Given the description of an element on the screen output the (x, y) to click on. 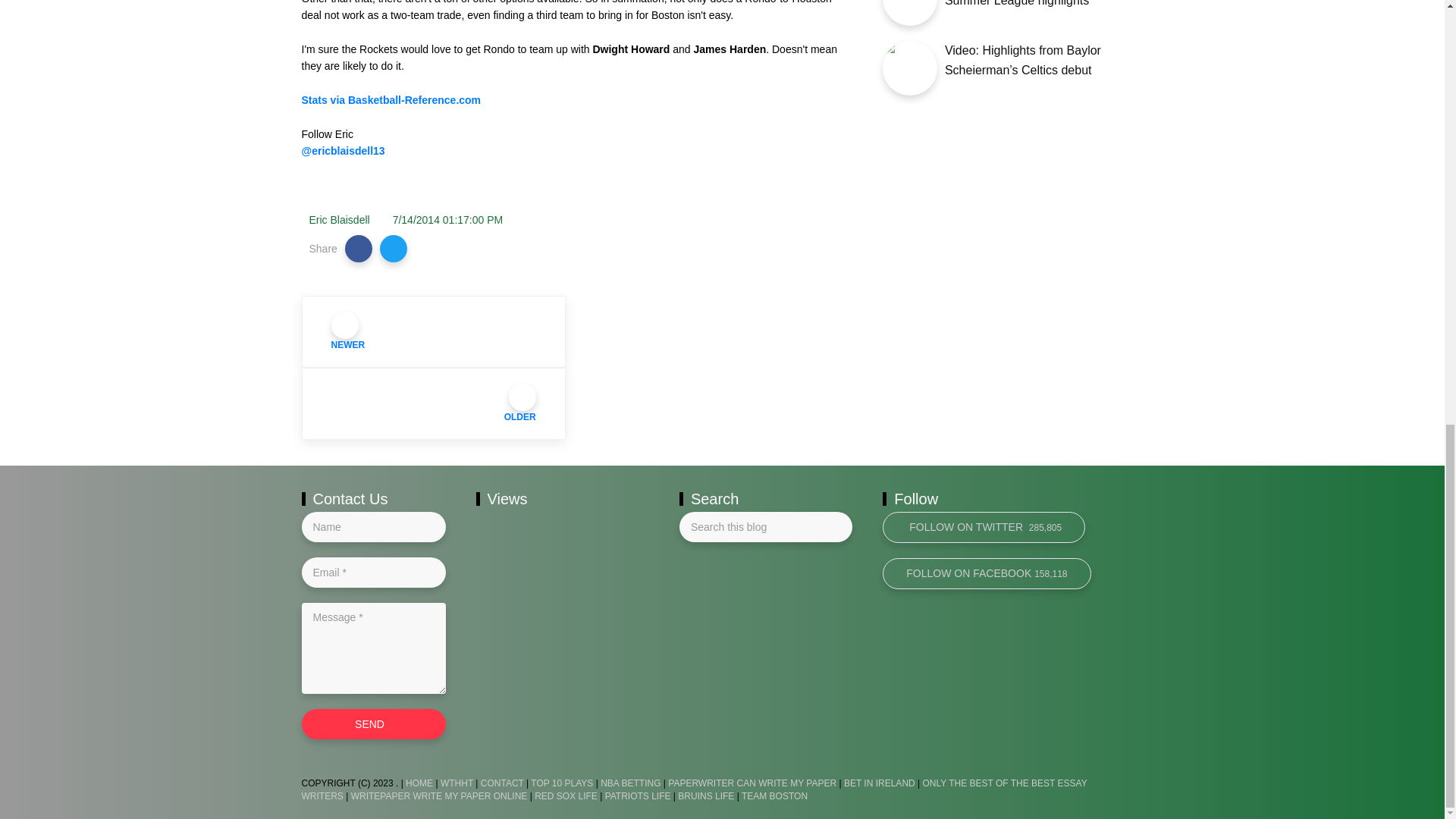
permanent link (448, 219)
Eric Blaisdell (338, 219)
Stats via Basketball-Reference.com (391, 100)
author profile (338, 219)
OLDER (433, 403)
Share to Facebook (358, 248)
Share to Twitter (393, 248)
NEWER (433, 331)
